Given the description of an element on the screen output the (x, y) to click on. 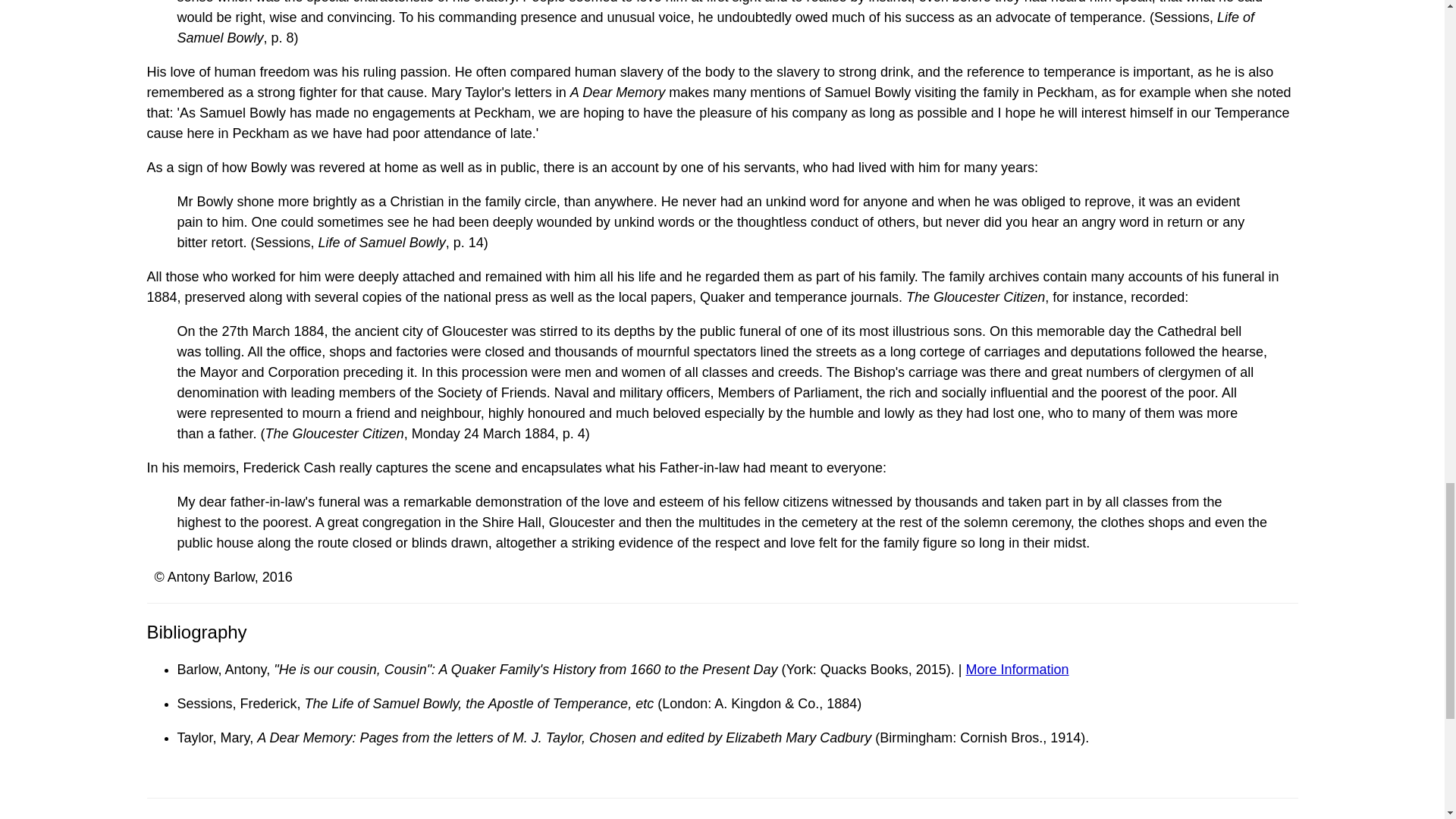
More Information (1017, 668)
